Given the description of an element on the screen output the (x, y) to click on. 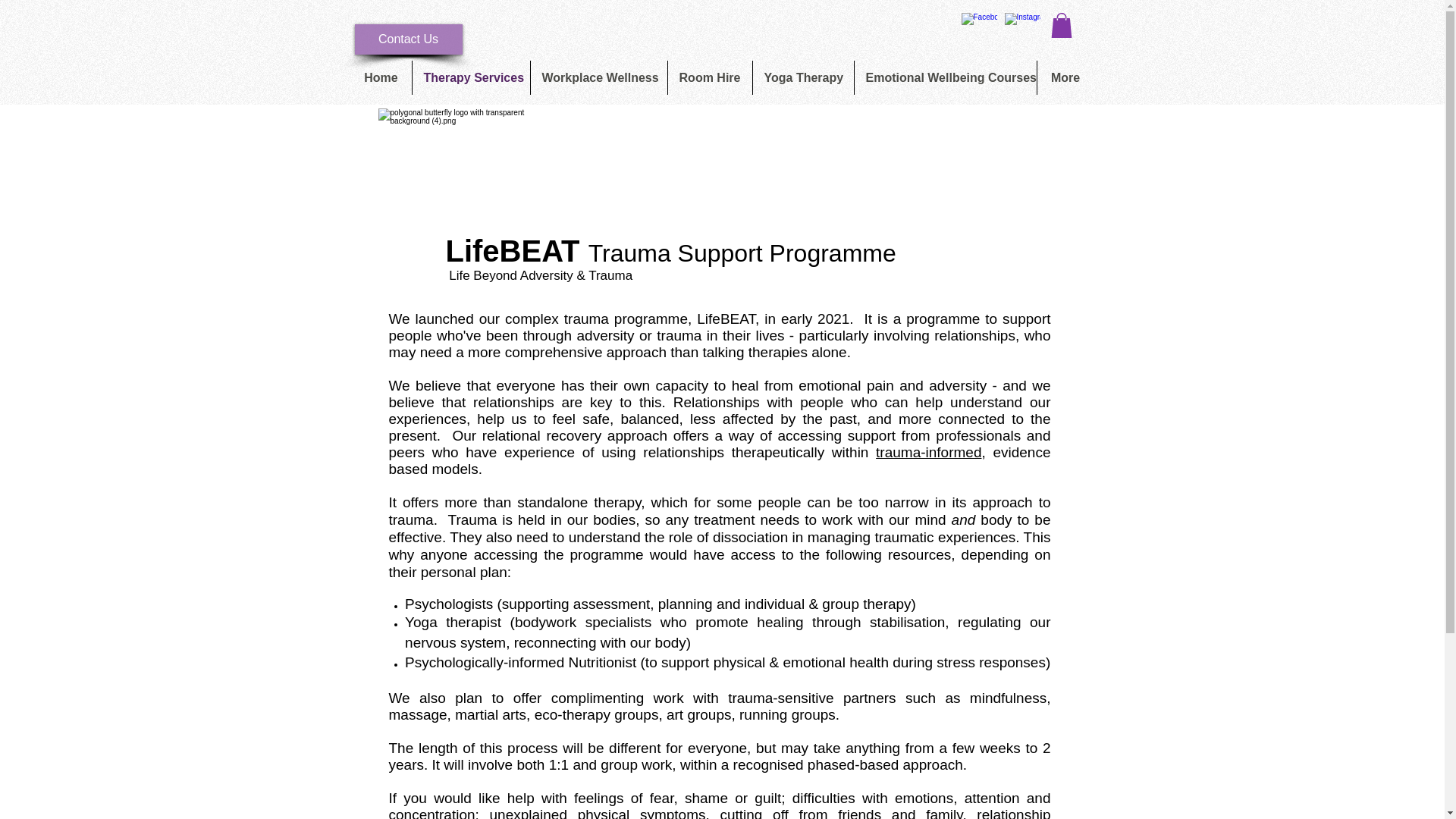
Home (380, 77)
Contact Us (409, 39)
trauma-informed (928, 452)
Room Hire (708, 77)
Yoga Therapy (802, 77)
Emotional Wellbeing Courses (944, 77)
Workplace Wellness (598, 77)
Therapy Services (470, 77)
